Given the description of an element on the screen output the (x, y) to click on. 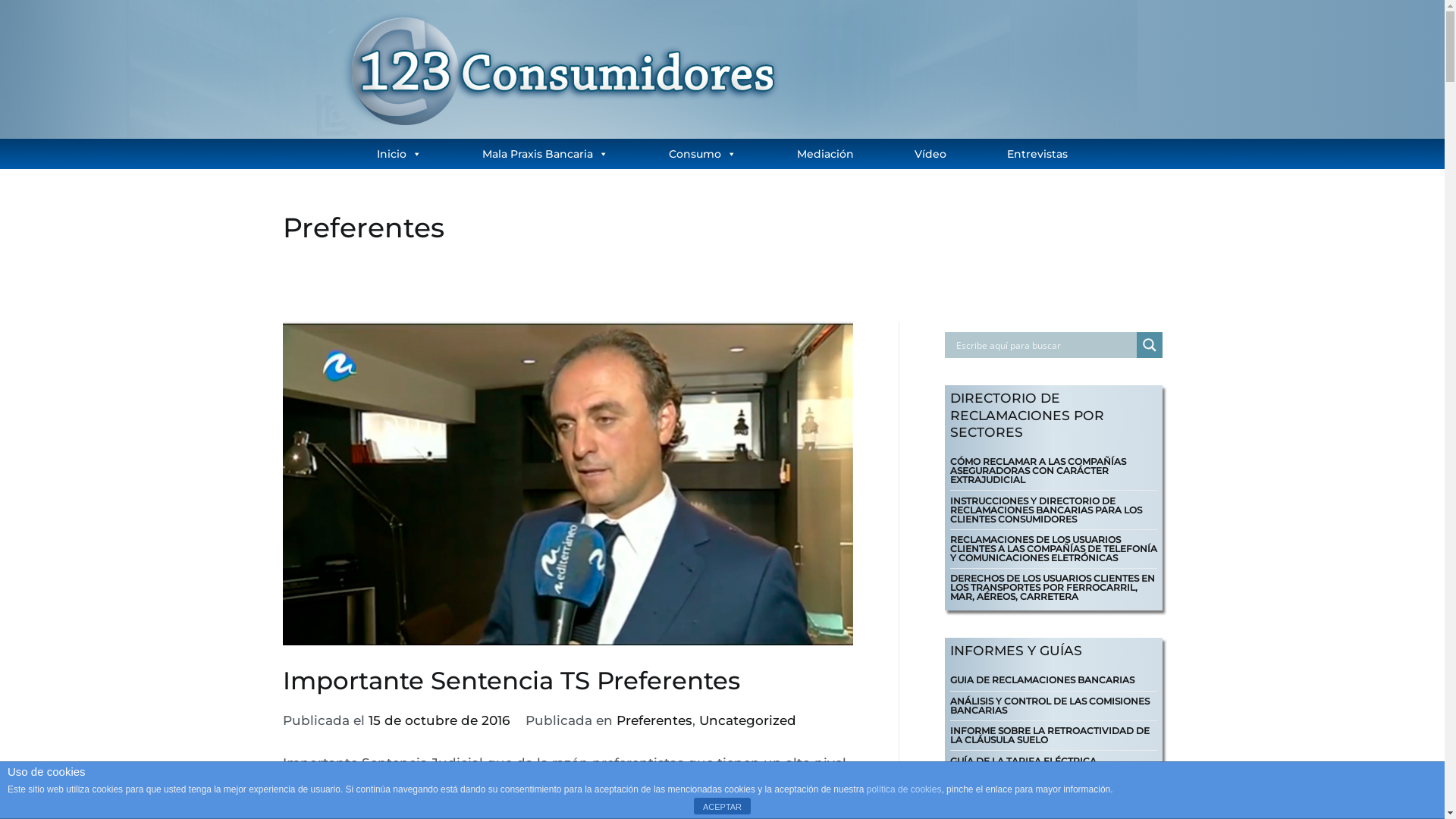
Importante Sentencia TS Preferentes Element type: text (510, 680)
15 de octubre de 2016 Element type: text (438, 720)
Preferentes Element type: text (654, 720)
Inicio Element type: text (398, 153)
Uncategorized Element type: text (747, 720)
Consumo Element type: text (702, 153)
123 Consumidores Element type: text (342, 192)
Entrevistas Element type: text (1037, 153)
GUIA DE RECLAMACIONES BANCARIAS Element type: text (1041, 680)
ACEPTAR Element type: text (721, 805)
Mala Praxis Bancaria Element type: text (544, 153)
